Given the description of an element on the screen output the (x, y) to click on. 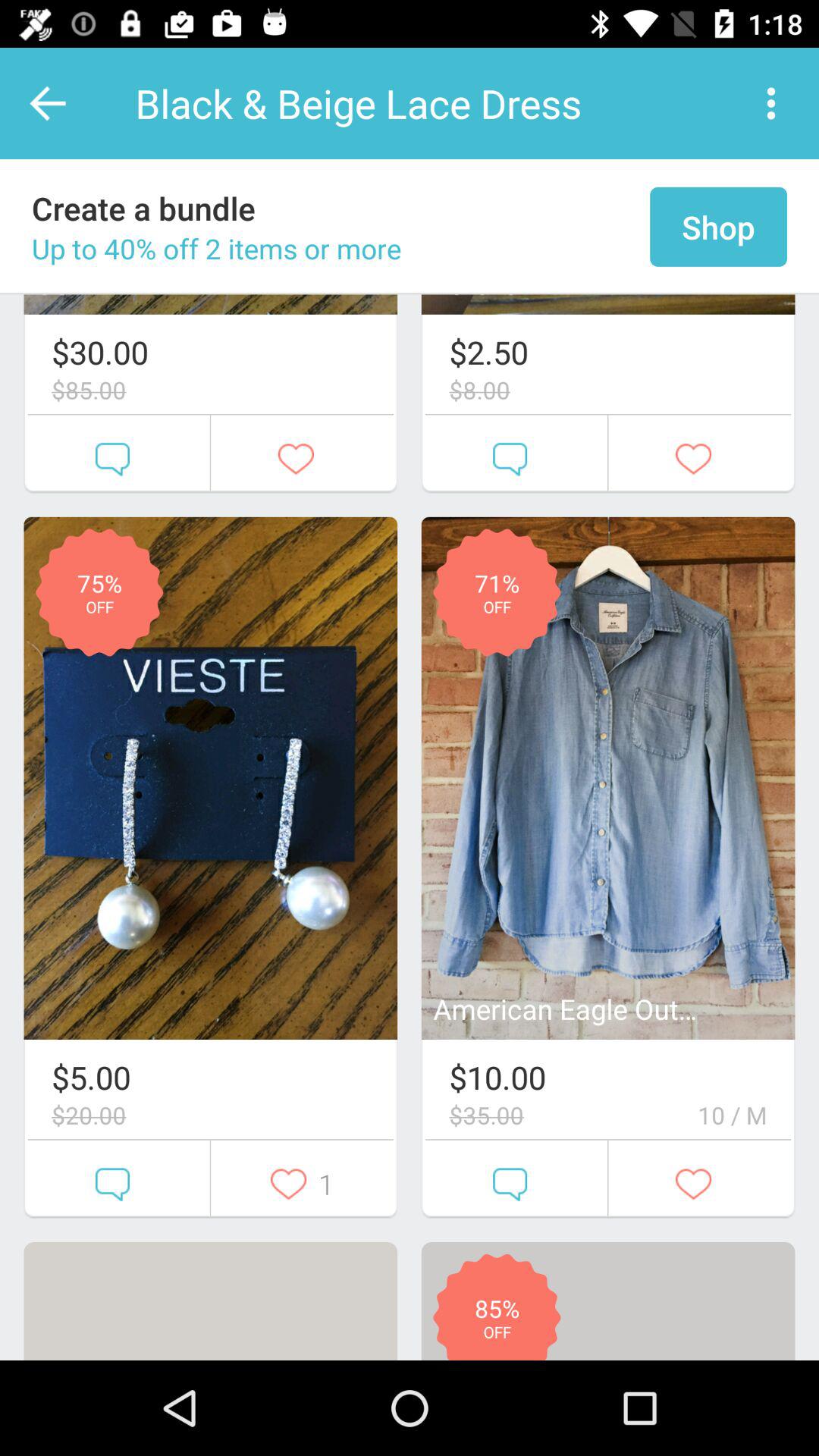
select the image which is above the 500 (210, 777)
click on the second button below the first image (301, 1179)
click on the shop button (718, 226)
